Given the description of an element on the screen output the (x, y) to click on. 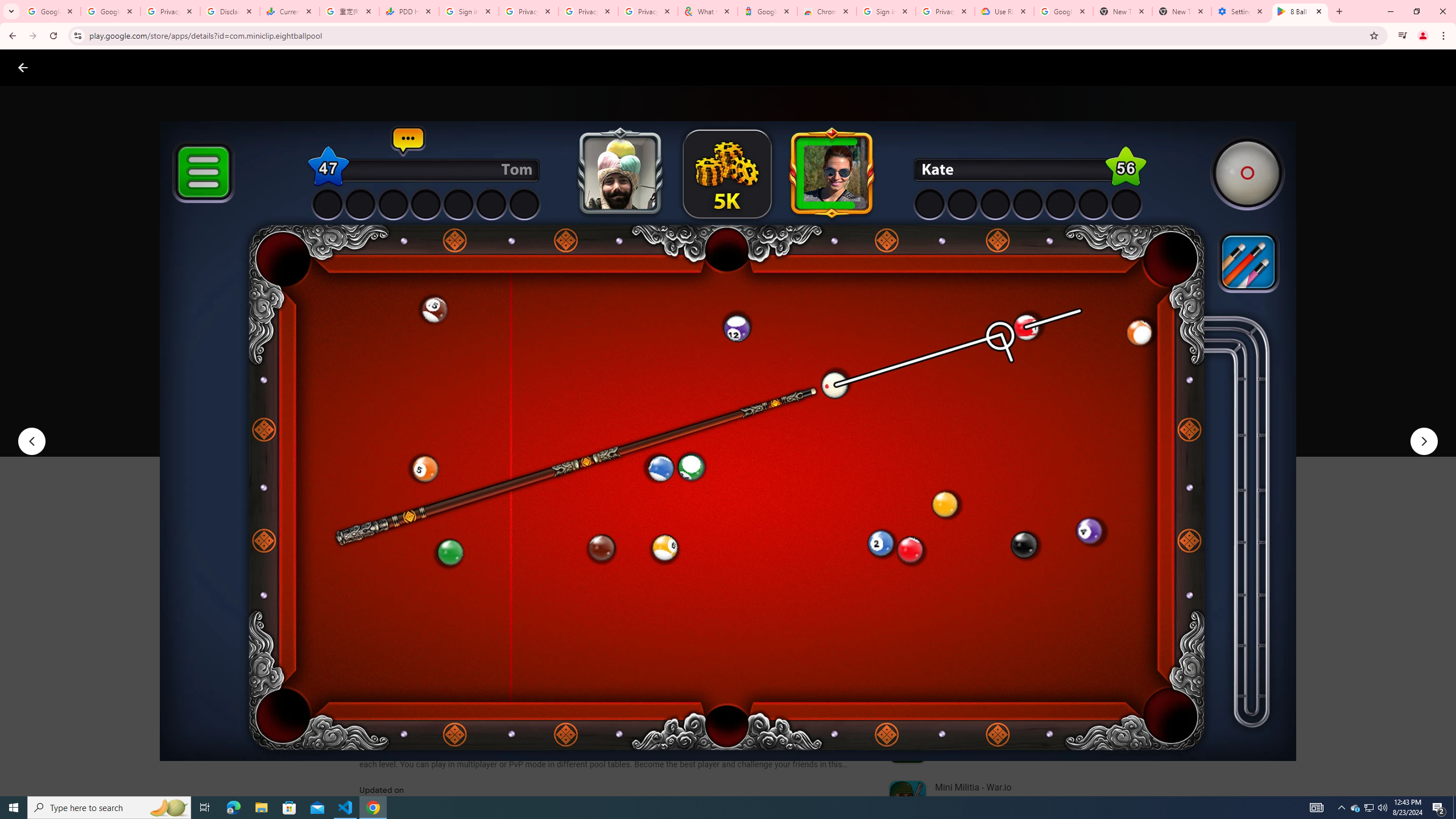
Settings - System (1241, 11)
PDD Holdings Inc - ADR (PDD) Price & News - Google Finance (409, 11)
Currencies - Google Finance (289, 11)
Chrome Web Store - Color themes by Chrome (826, 11)
New Tab (1182, 11)
Add to wishlist (576, 422)
